Given the description of an element on the screen output the (x, y) to click on. 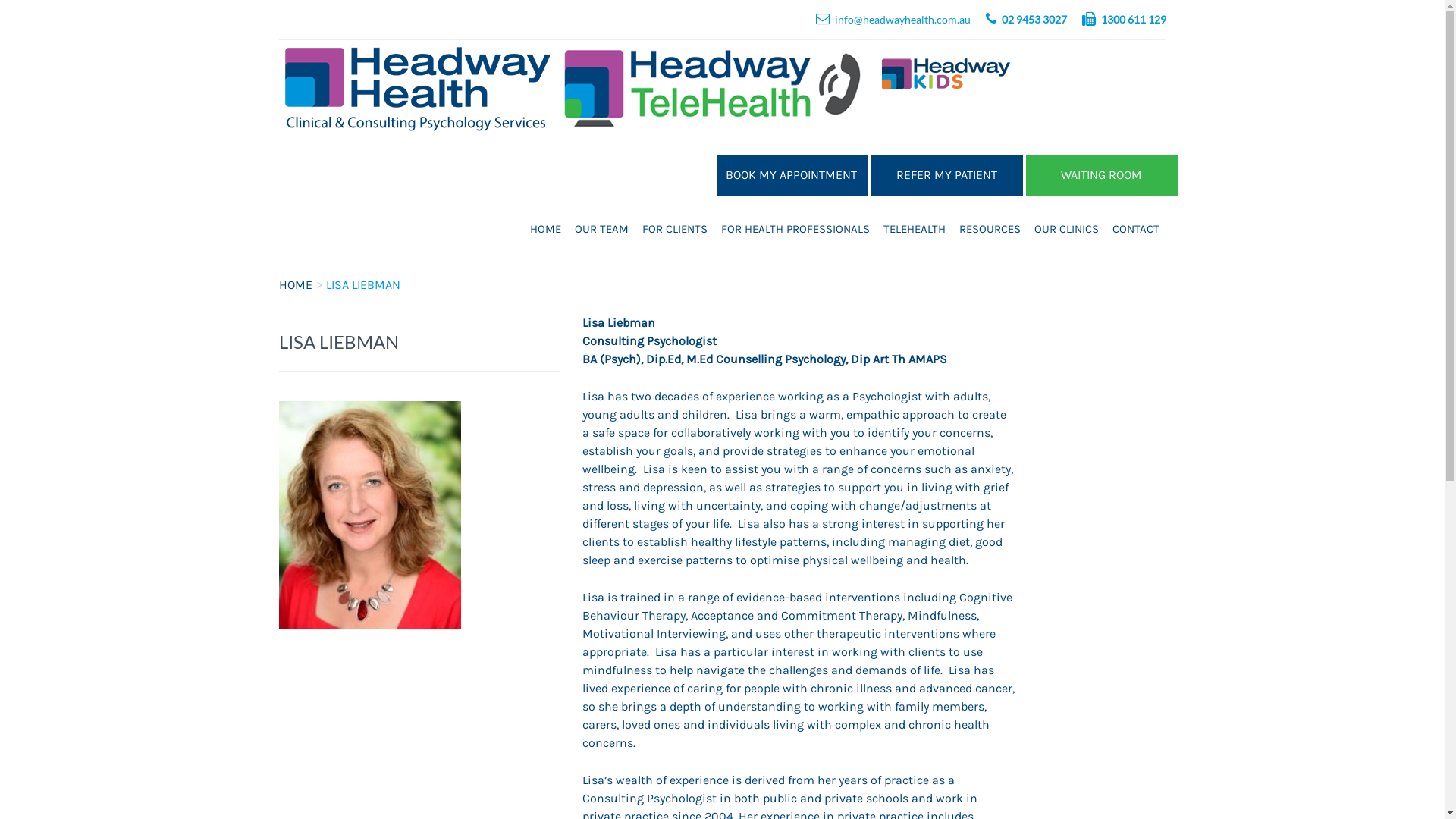
info@headwayhealth.com.au Element type: text (901, 18)
TELEHEALTH Element type: text (914, 228)
HOME Element type: text (545, 228)
HOME Element type: text (295, 284)
BOOK MY APPOINTMENT Element type: text (791, 174)
FOR CLIENTS Element type: text (674, 228)
REFER MY PATIENT Element type: text (946, 174)
RESOURCES Element type: text (989, 228)
02 9453 3027 Element type: text (1033, 18)
WAITING ROOM Element type: text (1100, 174)
FOR HEALTH PROFESSIONALS Element type: text (795, 228)
CONTACT Element type: text (1135, 228)
HEADWAYHEALTH FRENCHS FOREST Element type: text (1004, 277)
OUR CLINICS Element type: text (1065, 228)
OUR TEAM Element type: text (600, 228)
